Given the description of an element on the screen output the (x, y) to click on. 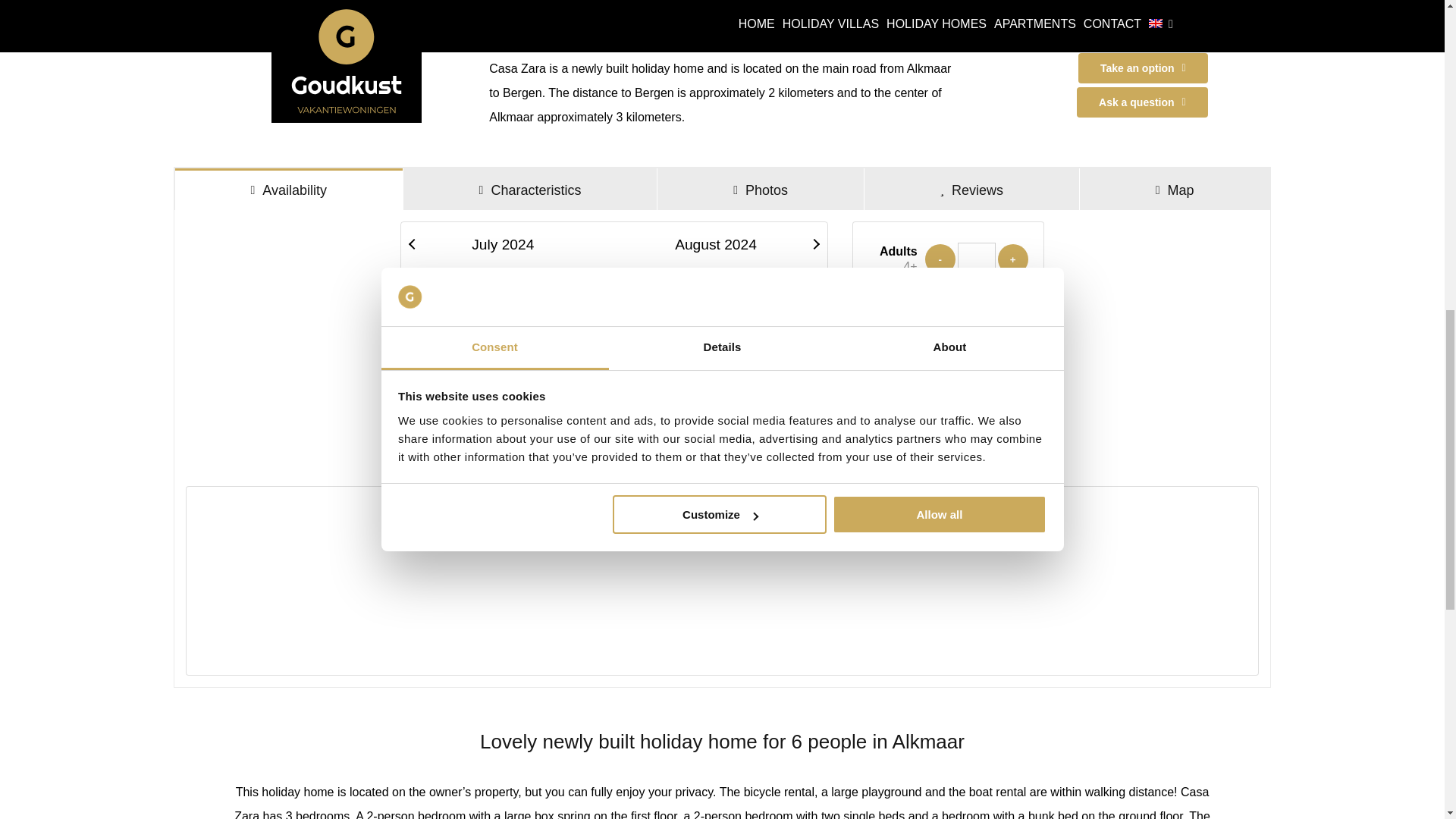
Take an option for Casa Zara (1143, 68)
Ask a question about Casa Zara (1142, 101)
Tell me as soon as Casa Zara becomes available again (1155, 33)
